Given the description of an element on the screen output the (x, y) to click on. 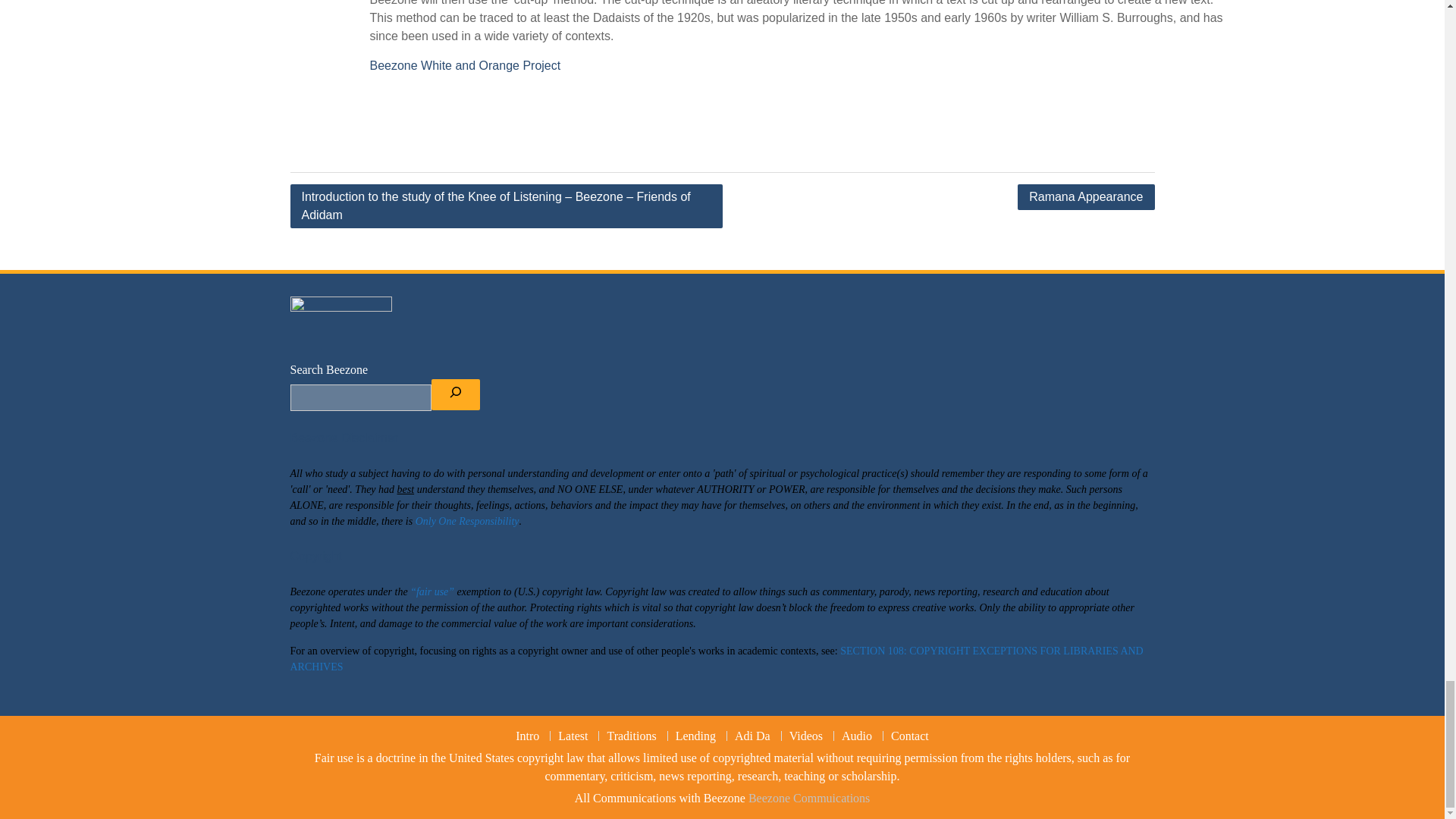
Latest (572, 736)
Ramana Appearance (1085, 196)
Intro (527, 736)
Only One Responsibility (466, 521)
Beezone White and Orange Project (464, 65)
Lending (694, 736)
SECTION 108: COPYRIGHT EXCEPTIONS FOR LIBRARIES AND ARCHIVES (715, 658)
Adi Da (751, 736)
Videos (804, 736)
Traditions (630, 736)
